Given the description of an element on the screen output the (x, y) to click on. 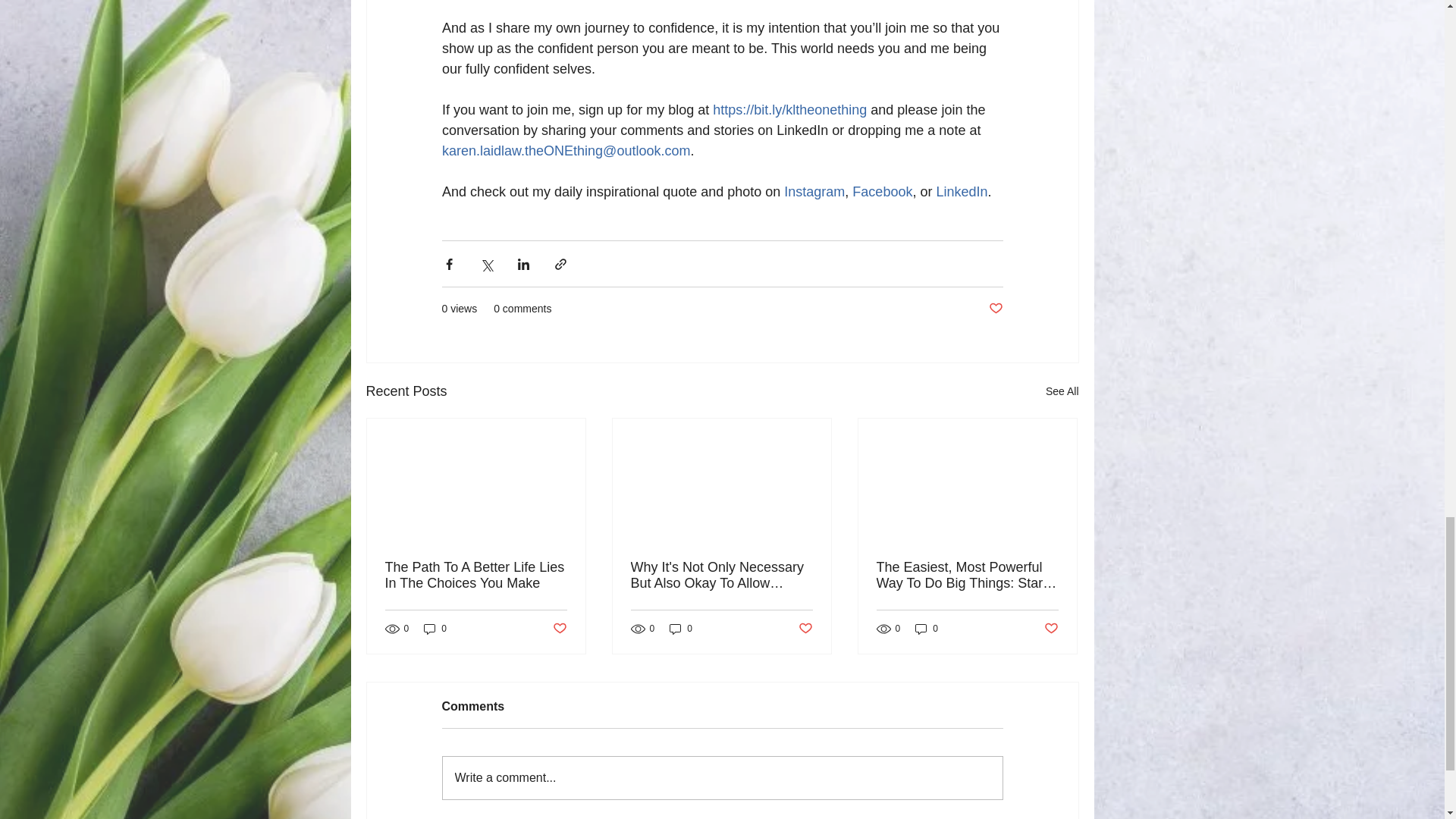
0 (681, 628)
See All (1061, 391)
Post not marked as liked (1050, 628)
0 (435, 628)
Instagram (814, 191)
LinkedIn (961, 191)
Facebook (881, 191)
Write a comment... (722, 777)
Post not marked as liked (558, 628)
The Easiest, Most Powerful Way To Do Big Things: Start Small (967, 575)
Post not marked as liked (995, 308)
0 (926, 628)
The Path To A Better Life Lies In The Choices You Make (476, 575)
Post not marked as liked (804, 628)
